Given the description of an element on the screen output the (x, y) to click on. 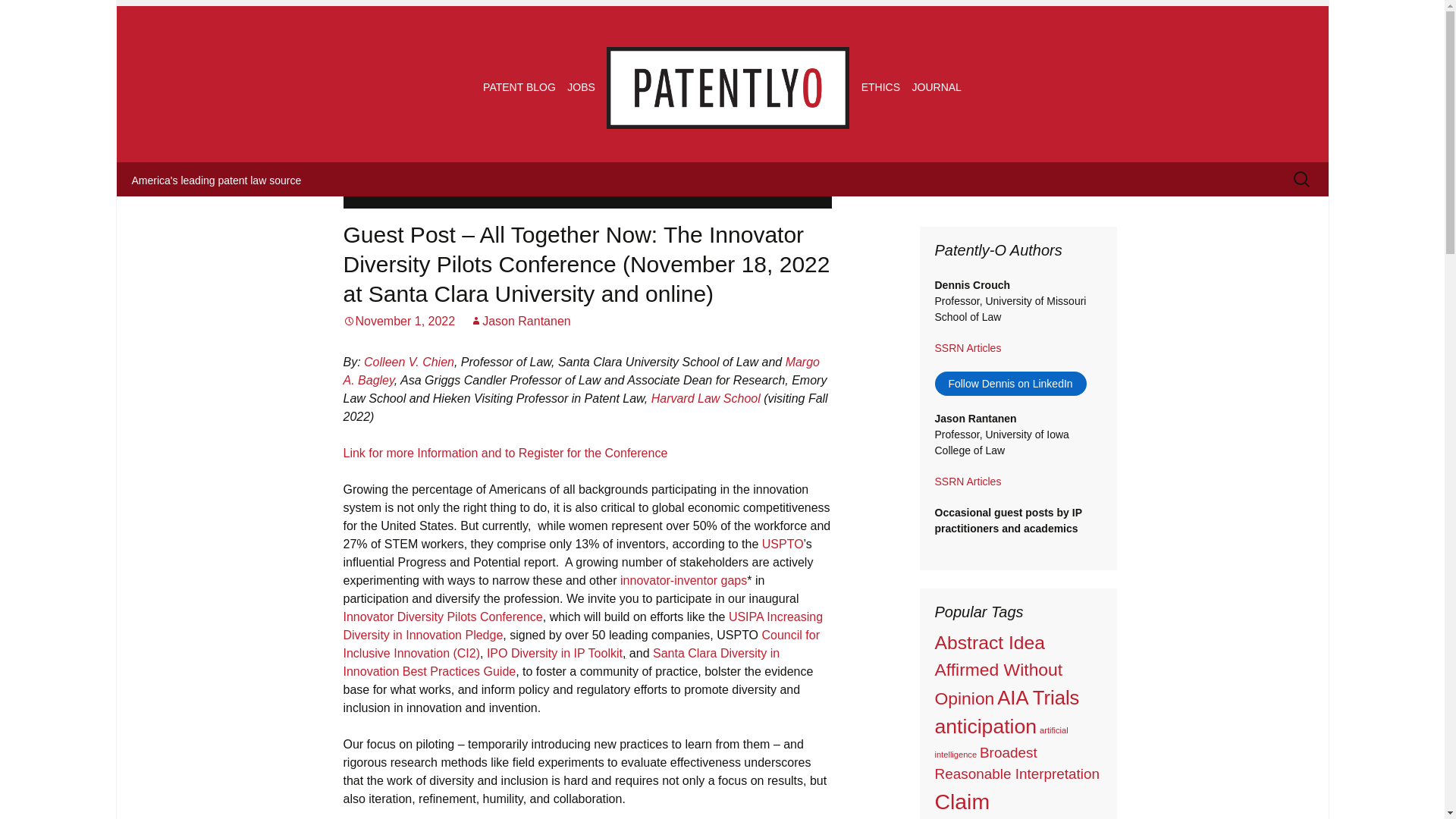
USIPA Increasing Diversity in Innovation Pledge (582, 625)
Colleen V. Chien (409, 361)
Patent law and IP law jobs from Patently-O (581, 87)
Jason Rantanen (520, 320)
Patent Law Journal from Patently-O (936, 87)
Harvard Law School (705, 398)
Link for more Information and to Register for the Conference (504, 452)
PATENT BLOG (519, 87)
Santa Clara Diversity in Innovation Best Practices Guide (560, 662)
USPTO (782, 543)
Innovator Diversity Pilots Conference (441, 616)
ETHICS (880, 87)
Patent law ethics by Hricik from Patently-O (880, 87)
JOBS (581, 87)
IPO Diversity in IP Toolkit (554, 653)
